Given the description of an element on the screen output the (x, y) to click on. 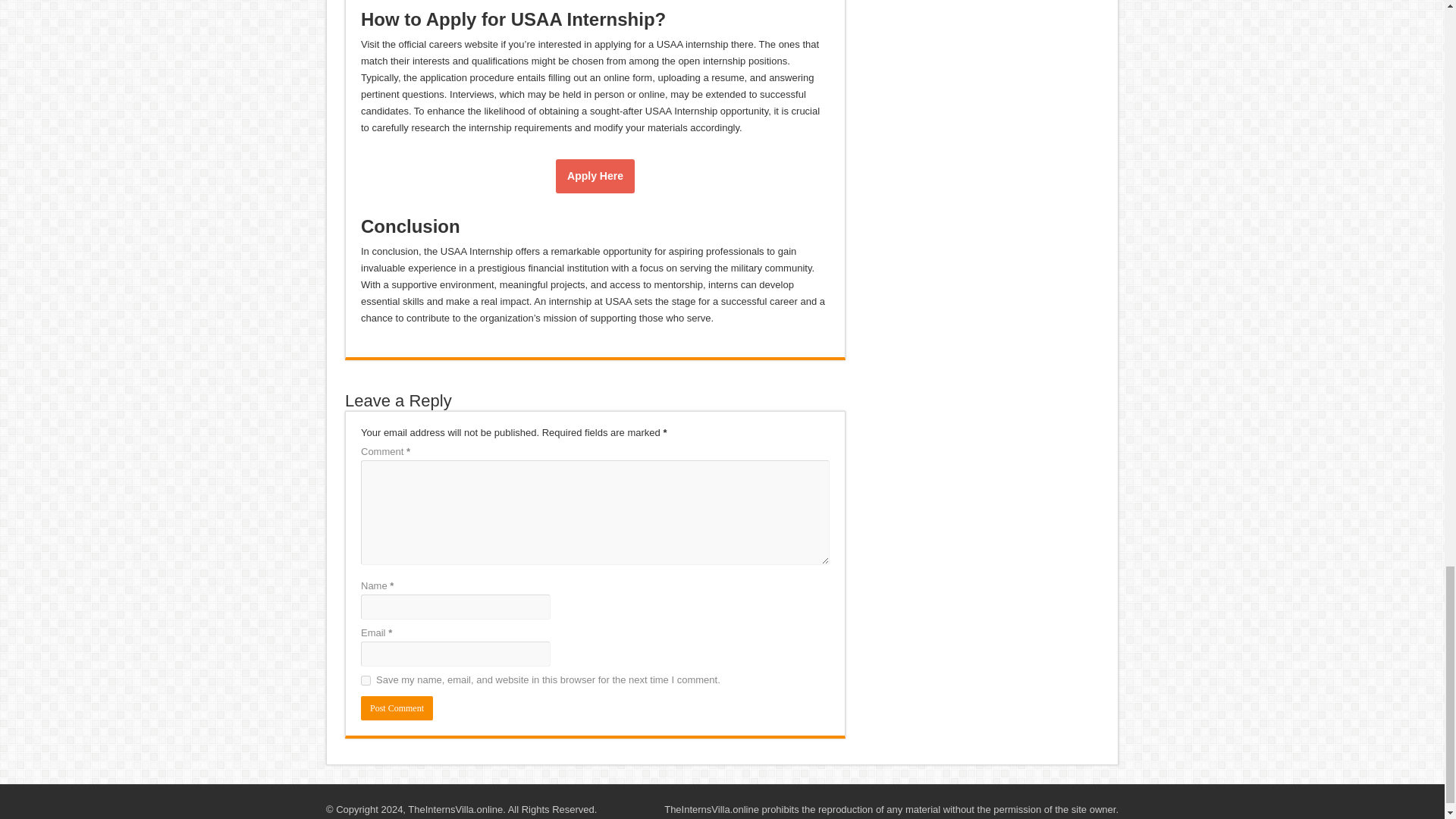
yes (366, 680)
USAA Internship (595, 175)
Post Comment (396, 708)
Apply Here (595, 175)
Post Comment (396, 708)
